Given the description of an element on the screen output the (x, y) to click on. 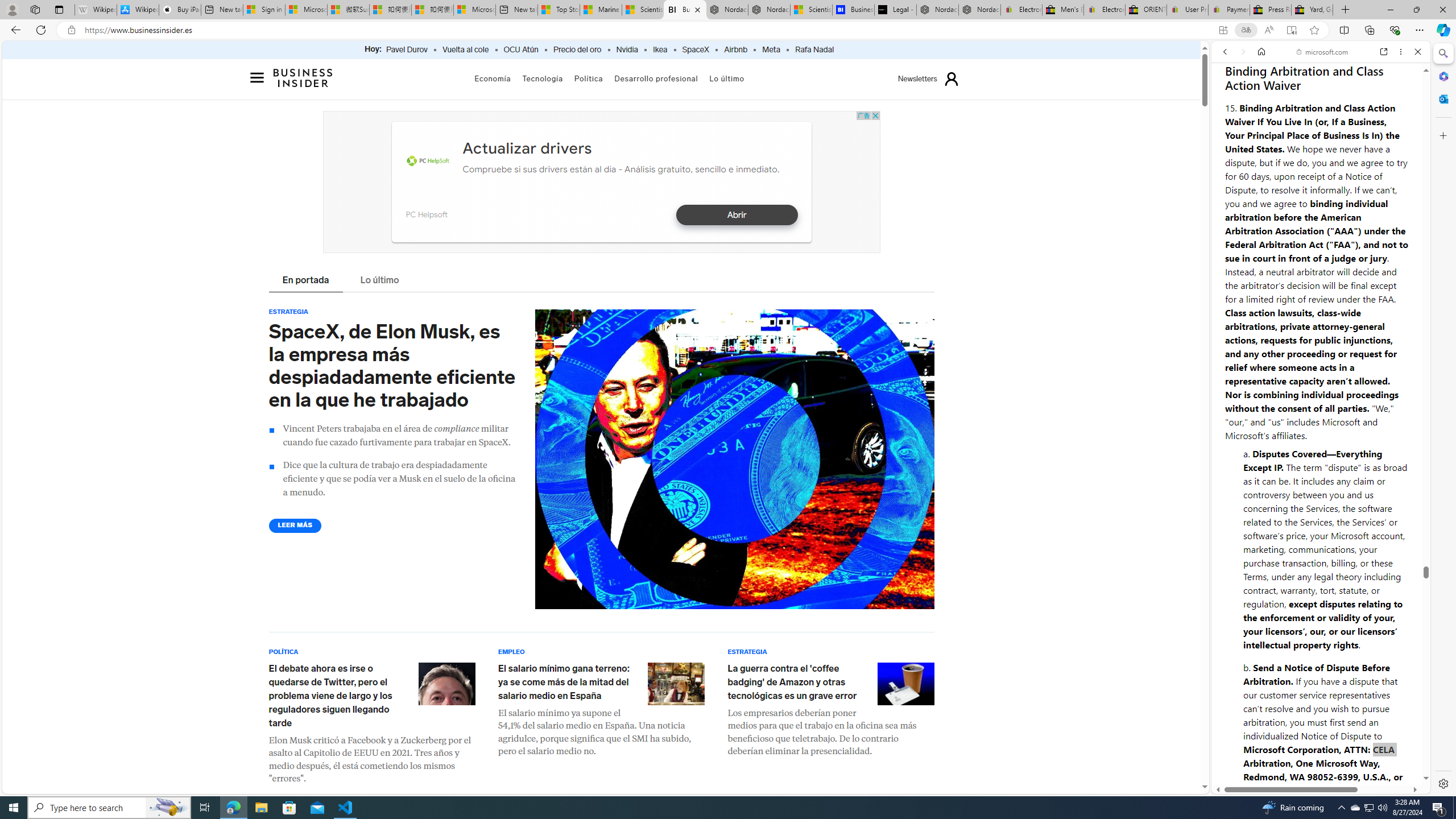
Vuelta al cole (464, 49)
Precio del oro (576, 49)
PC Helpsoft (425, 214)
Precio del oro (577, 49)
Nvidia (626, 49)
Search the web (1326, 78)
Newsletters (916, 78)
Meta (770, 49)
